Given the description of an element on the screen output the (x, y) to click on. 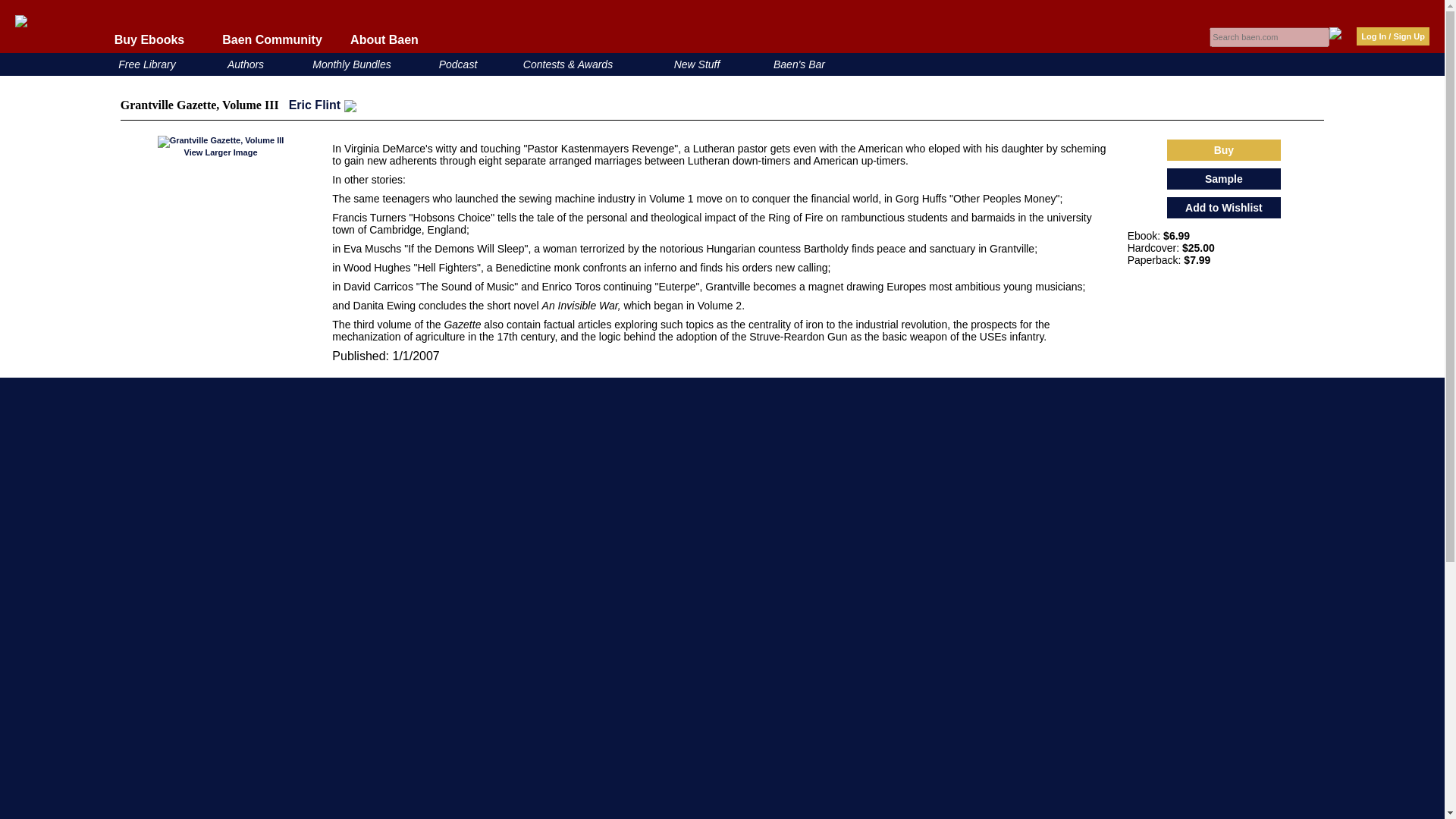
Authors (245, 64)
About Baen (384, 40)
Monthly Bundles (352, 64)
Podcast (458, 64)
Grantville Gazette, Volume III (220, 141)
Baen's Bar (799, 64)
Baen Community (272, 40)
New Stuff (697, 64)
Buy Ebooks (149, 40)
Free Library (145, 64)
